Given the description of an element on the screen output the (x, y) to click on. 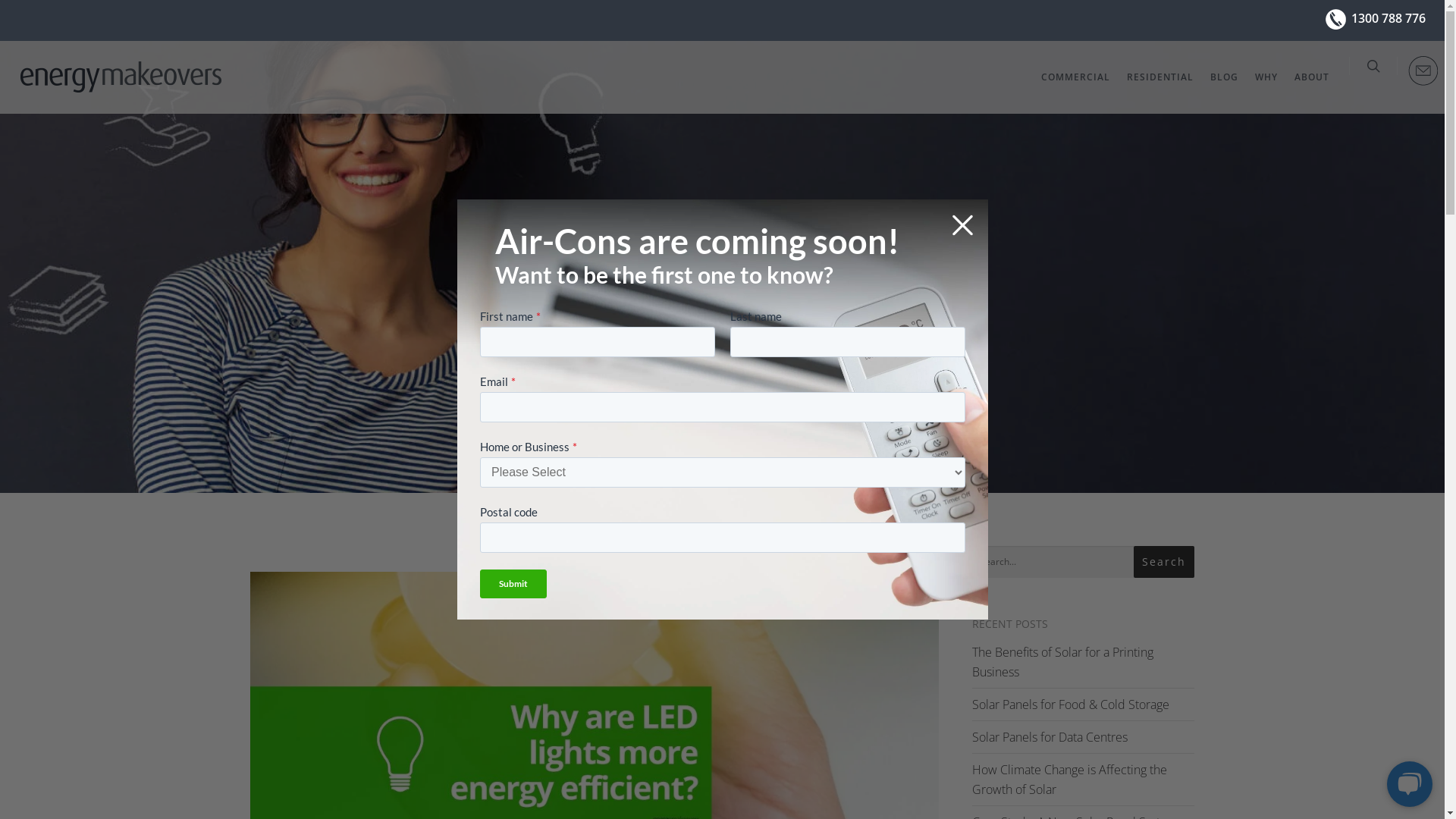
How Climate Change is Affecting the Growth of Solar Element type: text (1069, 779)
The Benefits of Solar for a Printing Business Element type: text (1062, 661)
Solar Panels for Data Centres Element type: text (1049, 736)
1300 788 776 Element type: text (1388, 17)
COMMERCIAL Element type: text (1075, 85)
WHY Element type: text (1266, 85)
Search Element type: text (1163, 561)
BLOG Element type: text (1223, 85)
Search for: Element type: hover (1083, 562)
Solar Panels for Food & Cold Storage Element type: text (1070, 704)
ABOUT Element type: text (1311, 85)
RESIDENTIAL Element type: text (1160, 85)
